Given the description of an element on the screen output the (x, y) to click on. 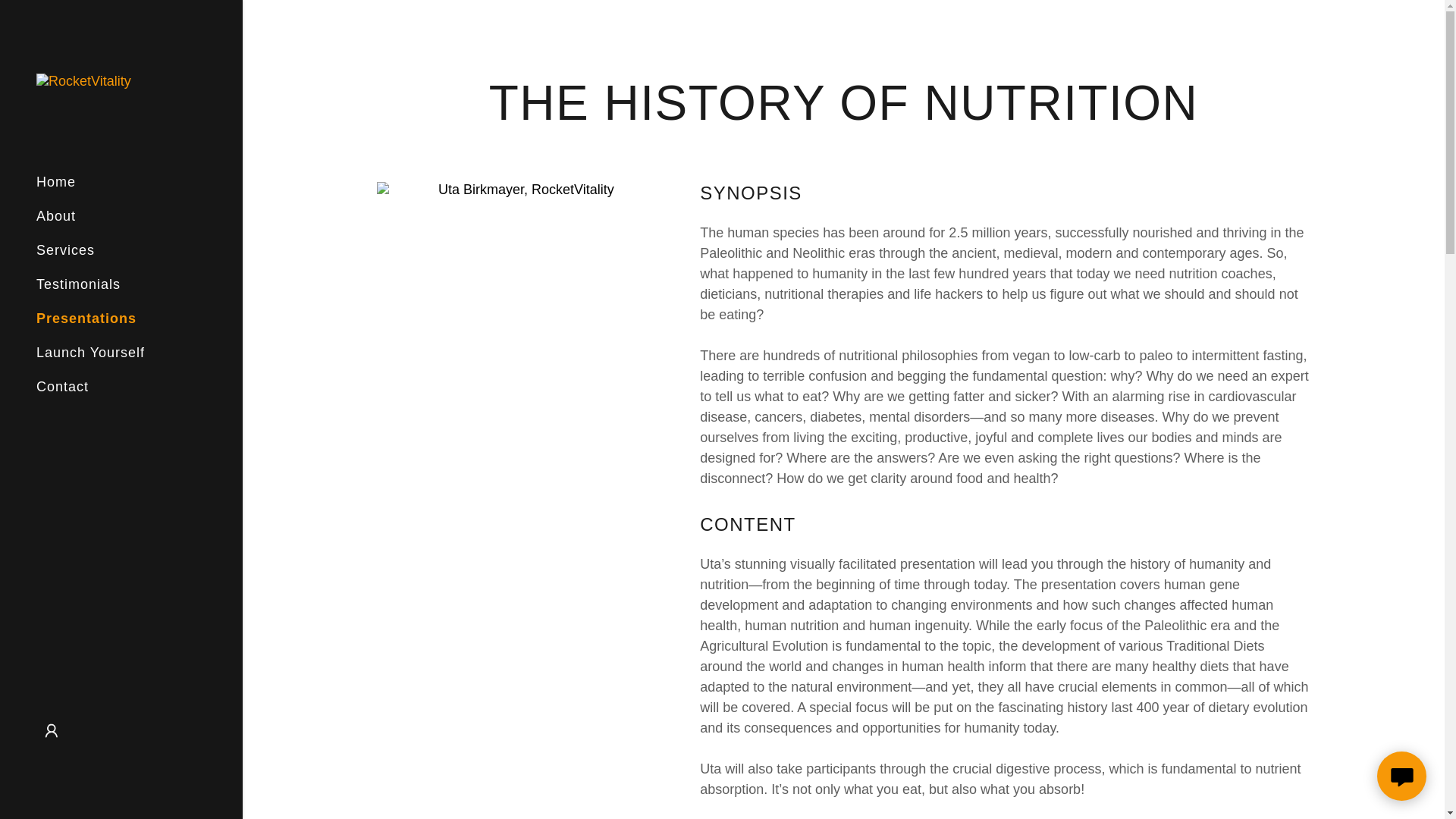
Contact (62, 386)
Services (65, 249)
Presentations (86, 318)
Home (55, 181)
Launch Yourself (90, 352)
About (55, 215)
RocketVitality (83, 79)
Testimonials (78, 283)
